Given the description of an element on the screen output the (x, y) to click on. 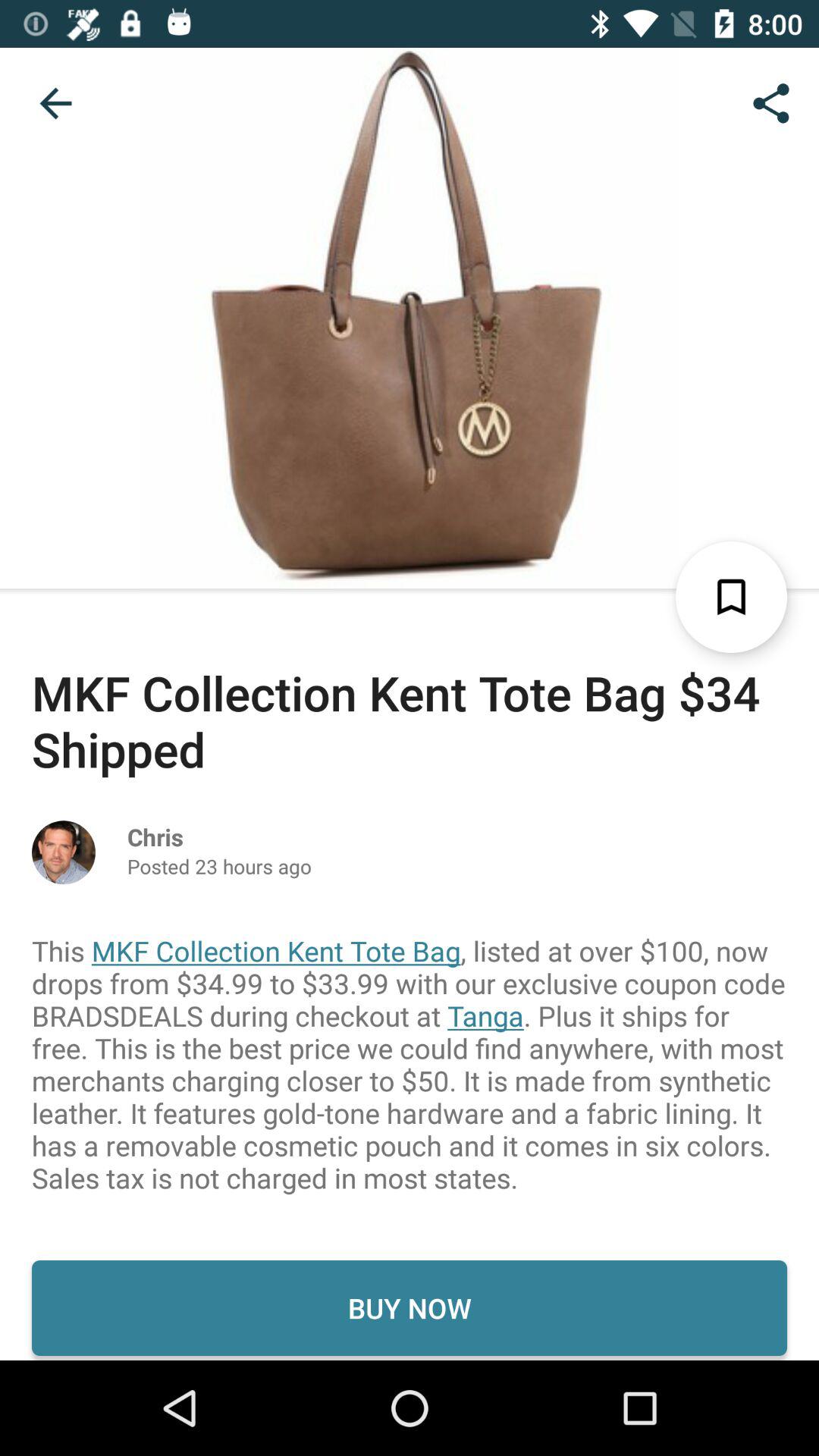
turn off icon at the top right corner (771, 103)
